Given the description of an element on the screen output the (x, y) to click on. 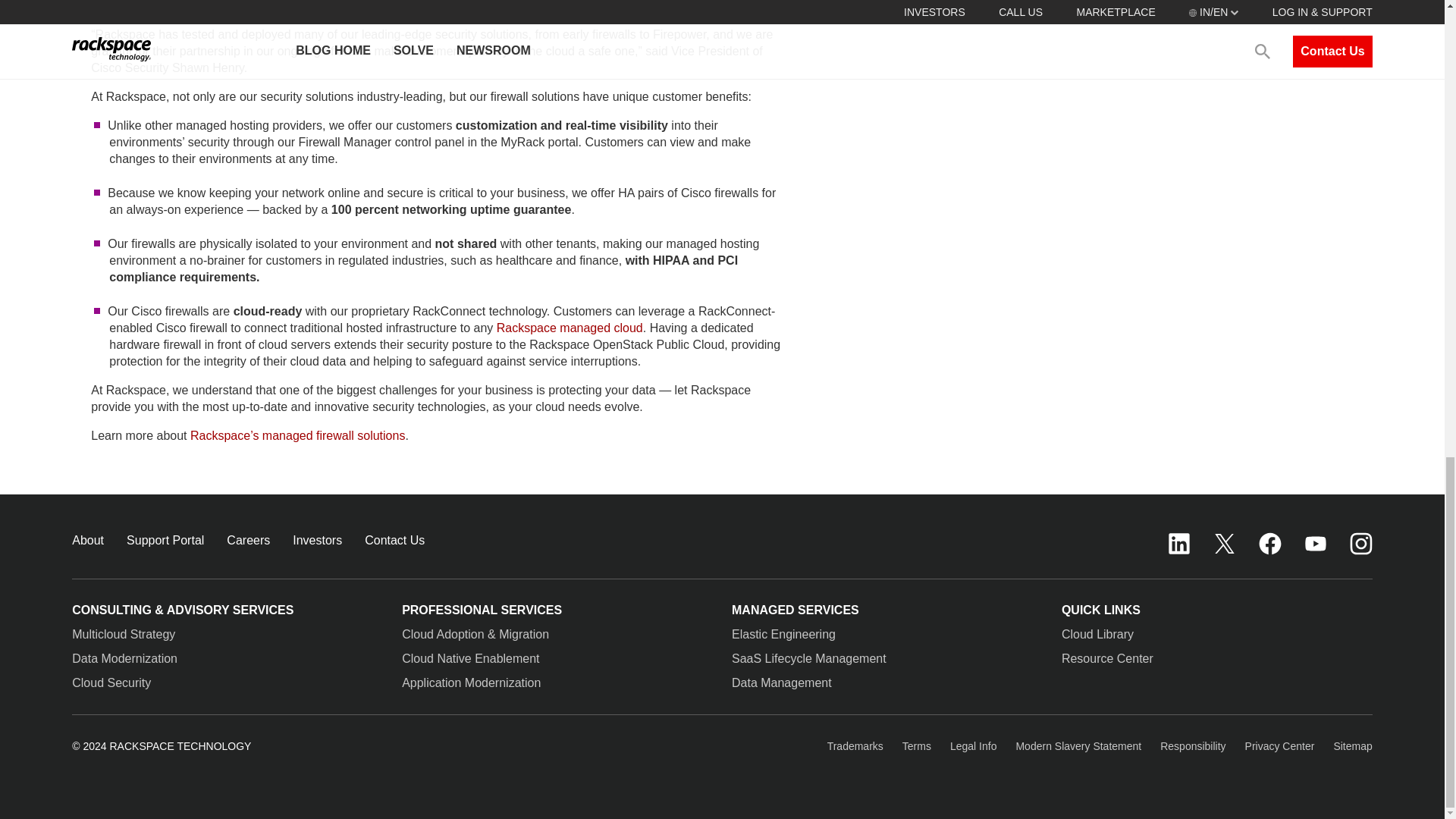
Rackspace managed  (555, 327)
cloud (628, 327)
